Given the description of an element on the screen output the (x, y) to click on. 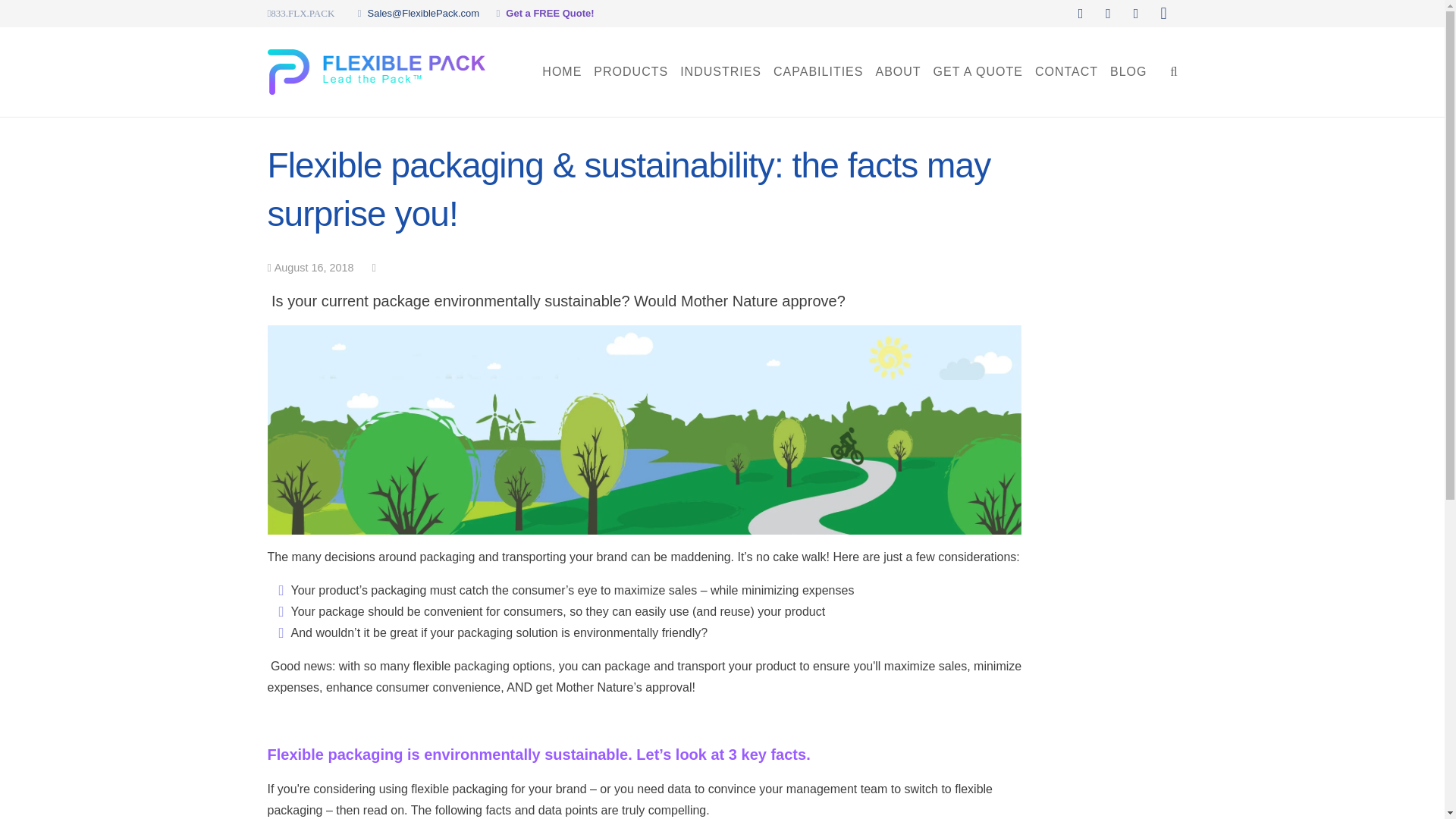
CAPABILITIES (818, 72)
INDUSTRIES (720, 72)
PRODUCTS (631, 72)
GET A QUOTE (978, 72)
Get a FREE Quote! (549, 12)
